Given the description of an element on the screen output the (x, y) to click on. 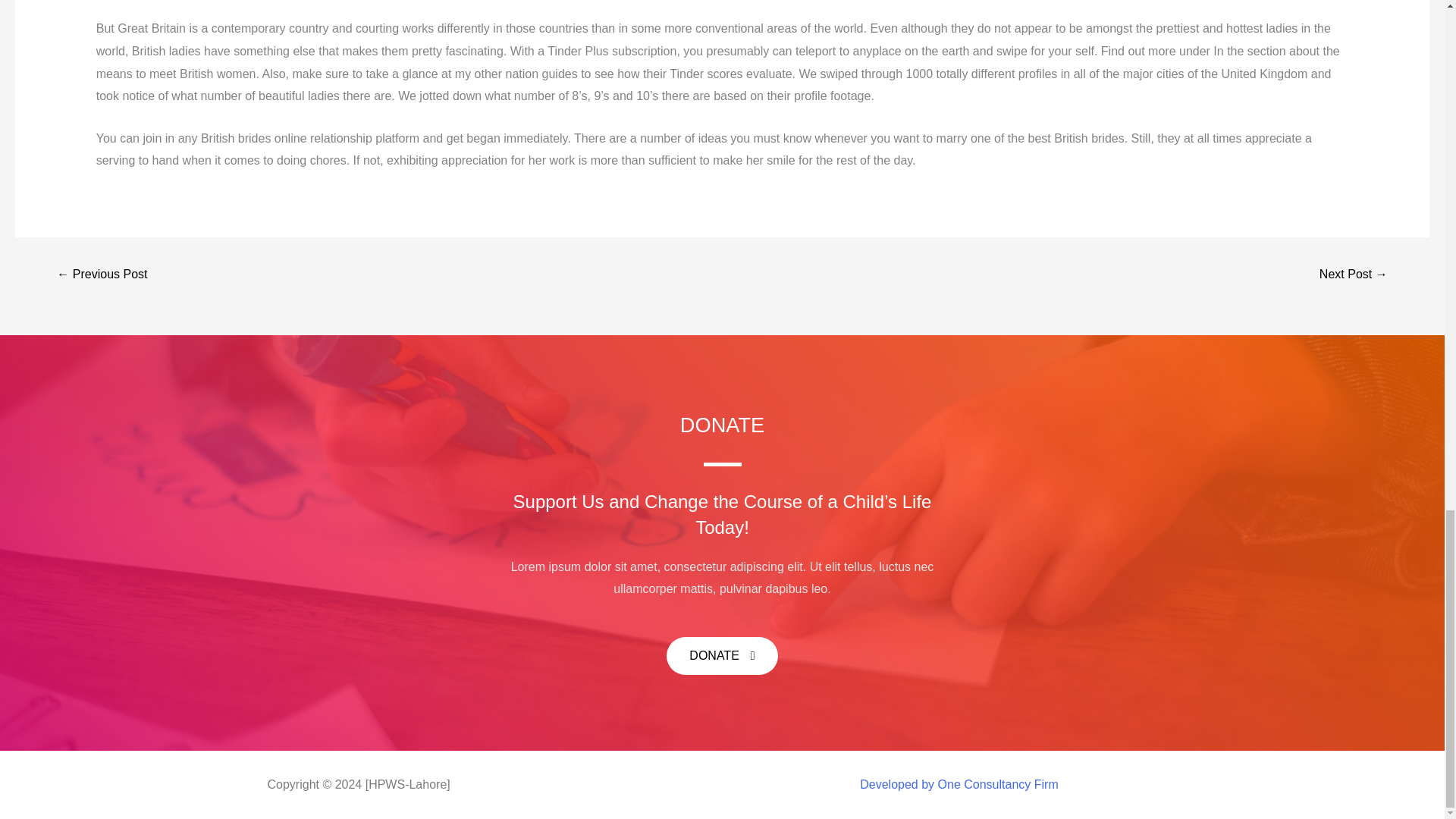
Developed by One Consultancy Firm (959, 784)
DONATE (721, 655)
